Given the description of an element on the screen output the (x, y) to click on. 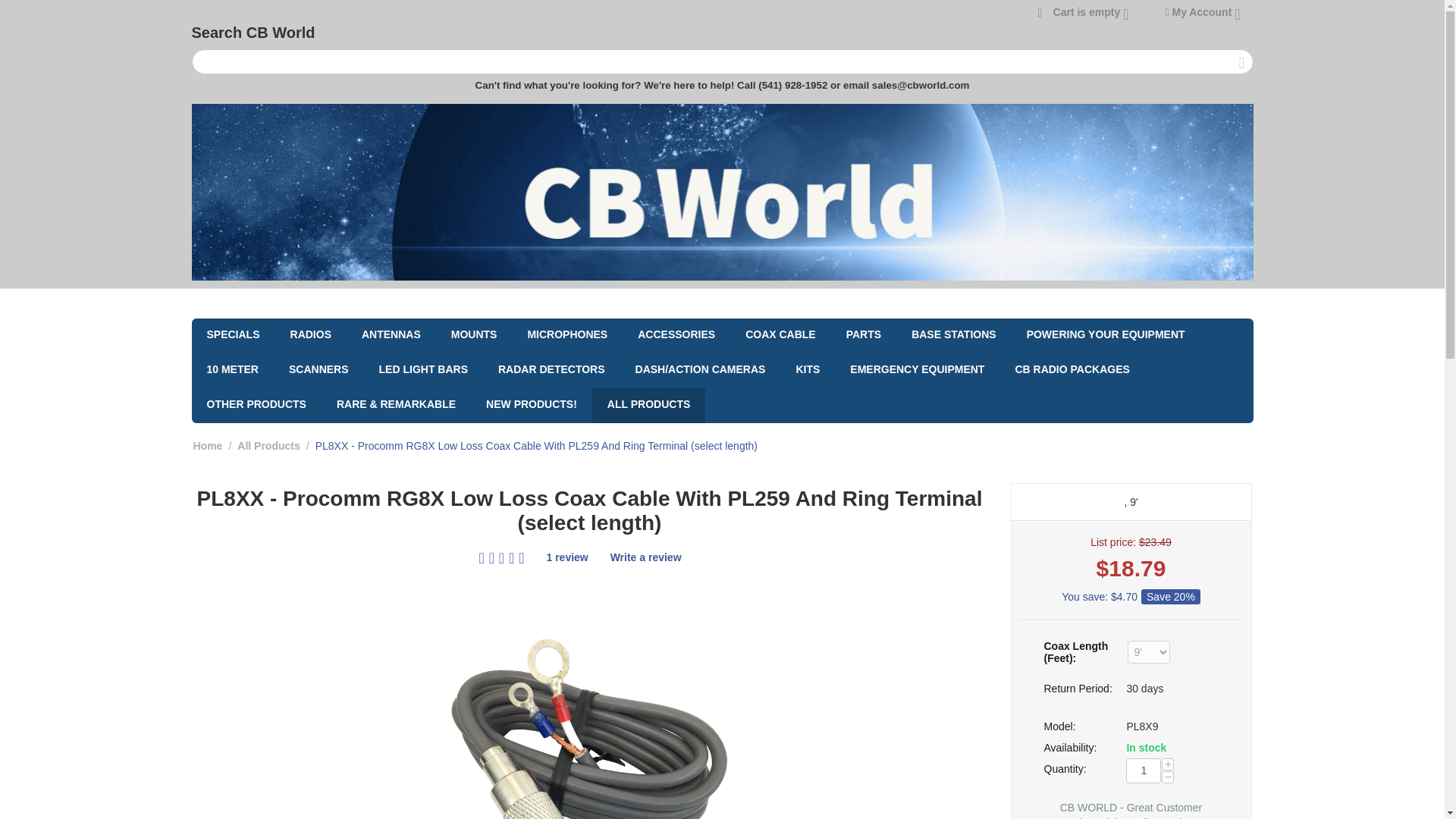
1 (1142, 770)
SPECIALS (232, 335)
Write a review (645, 557)
ANTENNAS (390, 335)
Search products (721, 61)
Cart is empty (1083, 11)
 My Account (1201, 11)
RADIOS (310, 335)
